Given the description of an element on the screen output the (x, y) to click on. 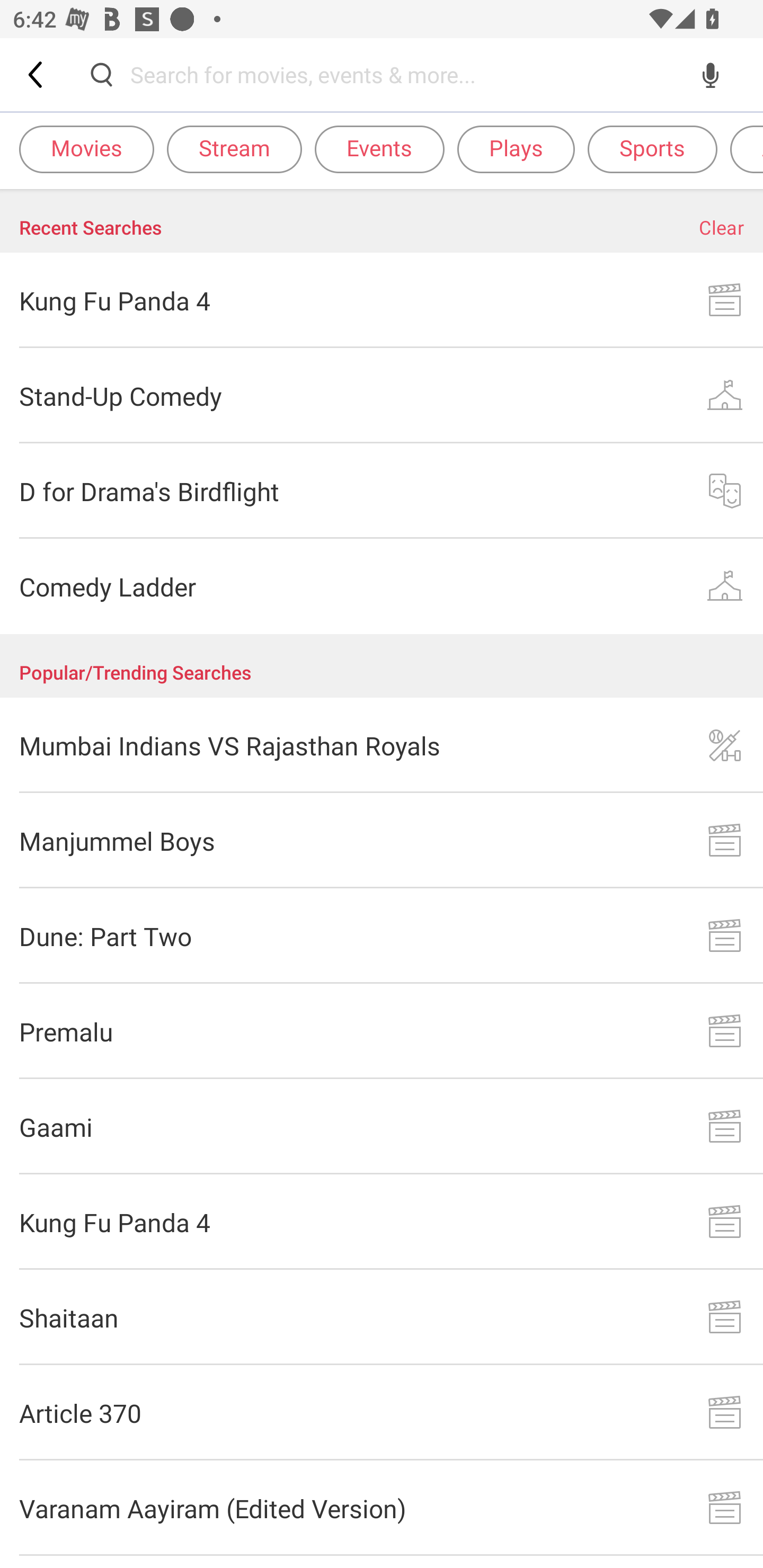
Back (36, 74)
Search for movies, events & more... (406, 74)
Movies (86, 148)
Stream (234, 148)
Events (379, 148)
Plays (515, 148)
Sports (652, 148)
Recent Searches Clear (381, 220)
Kung Fu Panda 4 (381, 300)
Stand-Up Comedy (381, 395)
D for Drama's Birdflight (381, 491)
Comedy Ladder (381, 586)
Popular/Trending Searches (381, 665)
Mumbai Indians VS Rajasthan Royals (381, 745)
Manjummel Boys (381, 841)
Dune: Part Two (381, 936)
Premalu (381, 1030)
Gaami (381, 1126)
Kung Fu Panda 4 (381, 1222)
Shaitaan (381, 1317)
Article 370 (381, 1412)
Varanam Aayiram (Edited Version) (381, 1507)
